Given the description of an element on the screen output the (x, y) to click on. 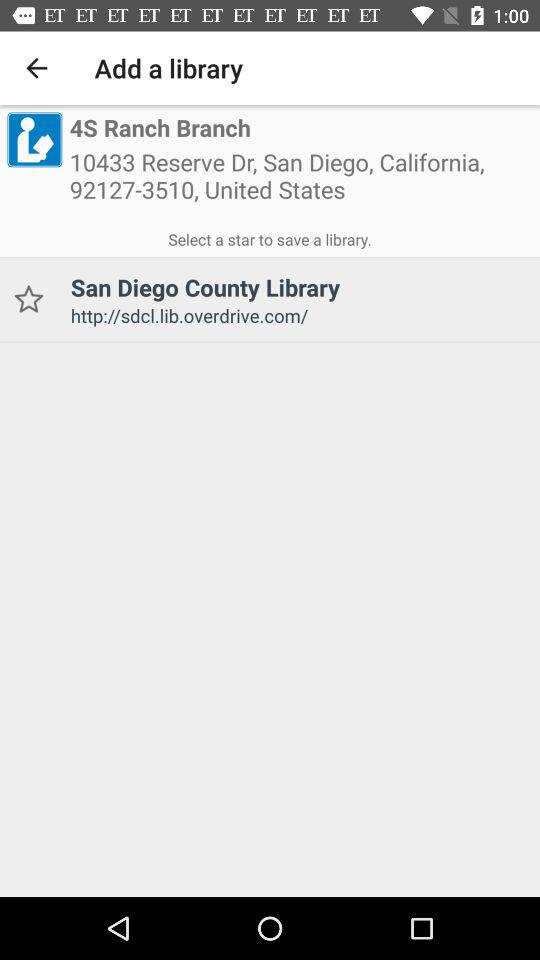
select the item above select a star (34, 139)
